Given the description of an element on the screen output the (x, y) to click on. 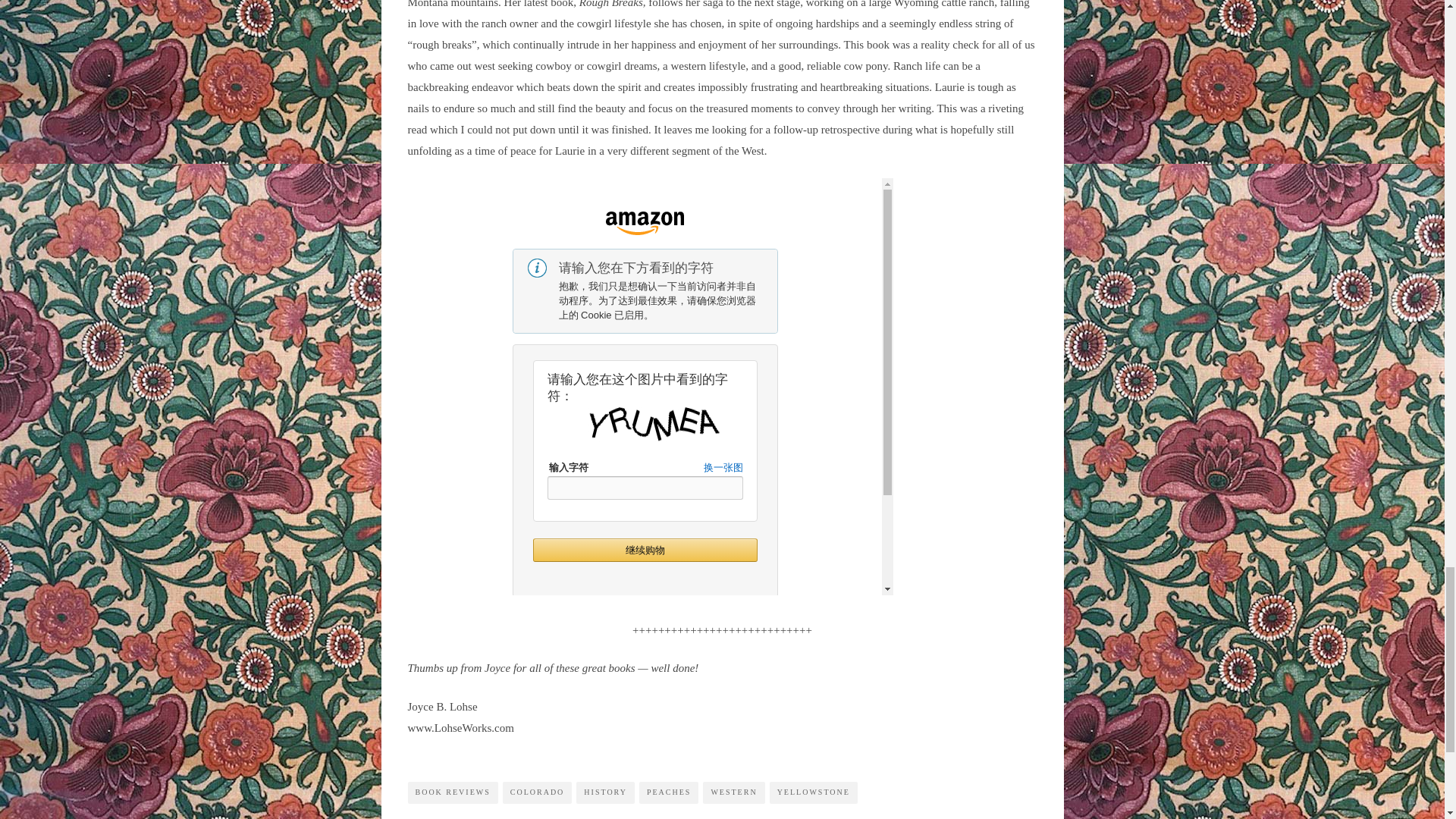
COLORADO (537, 792)
YELLOWSTONE (813, 792)
WESTERN (733, 792)
PEACHES (668, 792)
HISTORY (605, 792)
BOOK REVIEWS (452, 792)
